Given the description of an element on the screen output the (x, y) to click on. 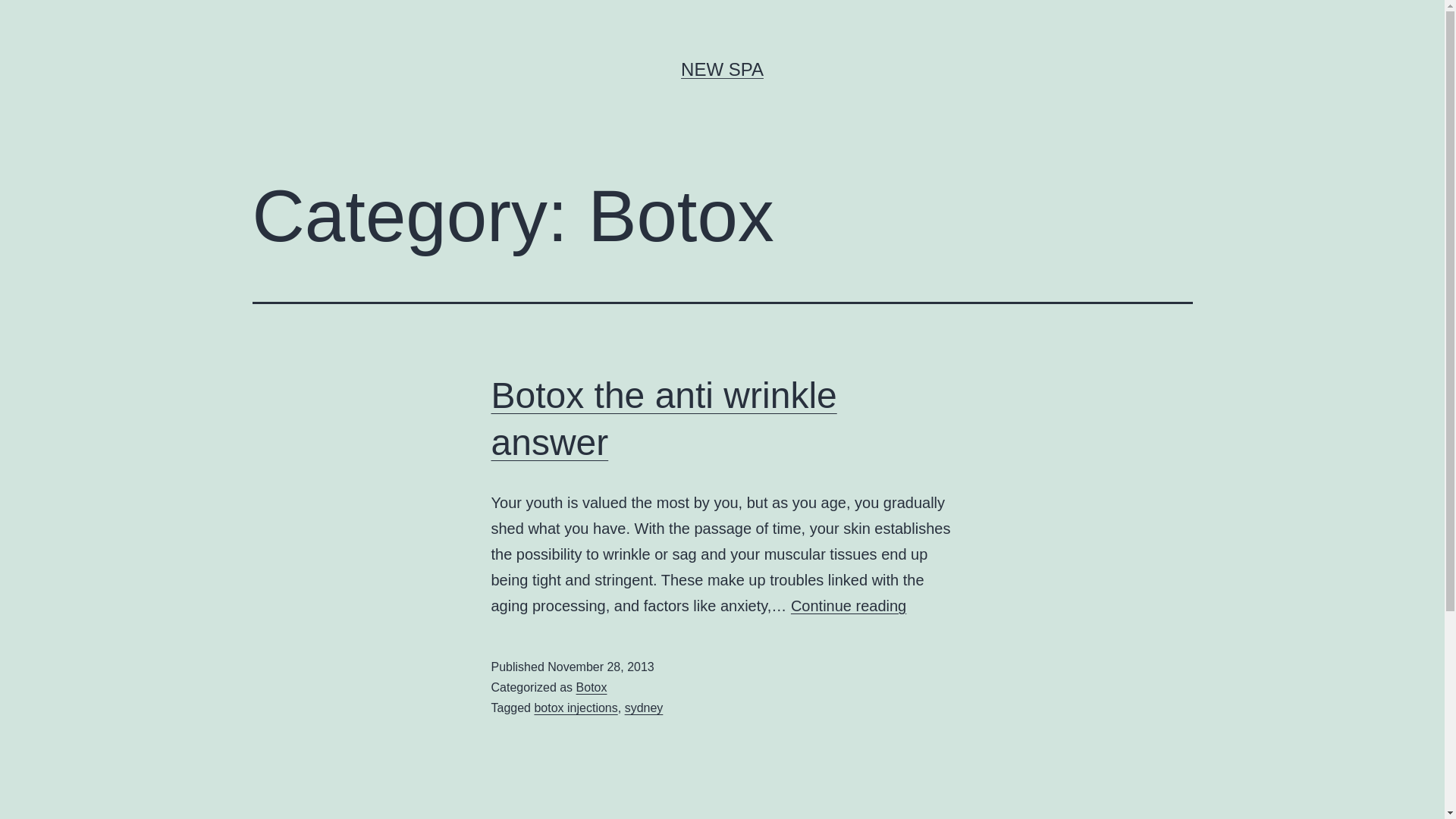
sydney Element type: text (643, 707)
NEW SPA Element type: text (721, 69)
Botox the anti wrinkle answer Element type: text (664, 418)
botox injections Element type: text (575, 707)
Continue reading
Botox the anti wrinkle answer Element type: text (848, 605)
Botox Element type: text (591, 686)
